Given the description of an element on the screen output the (x, y) to click on. 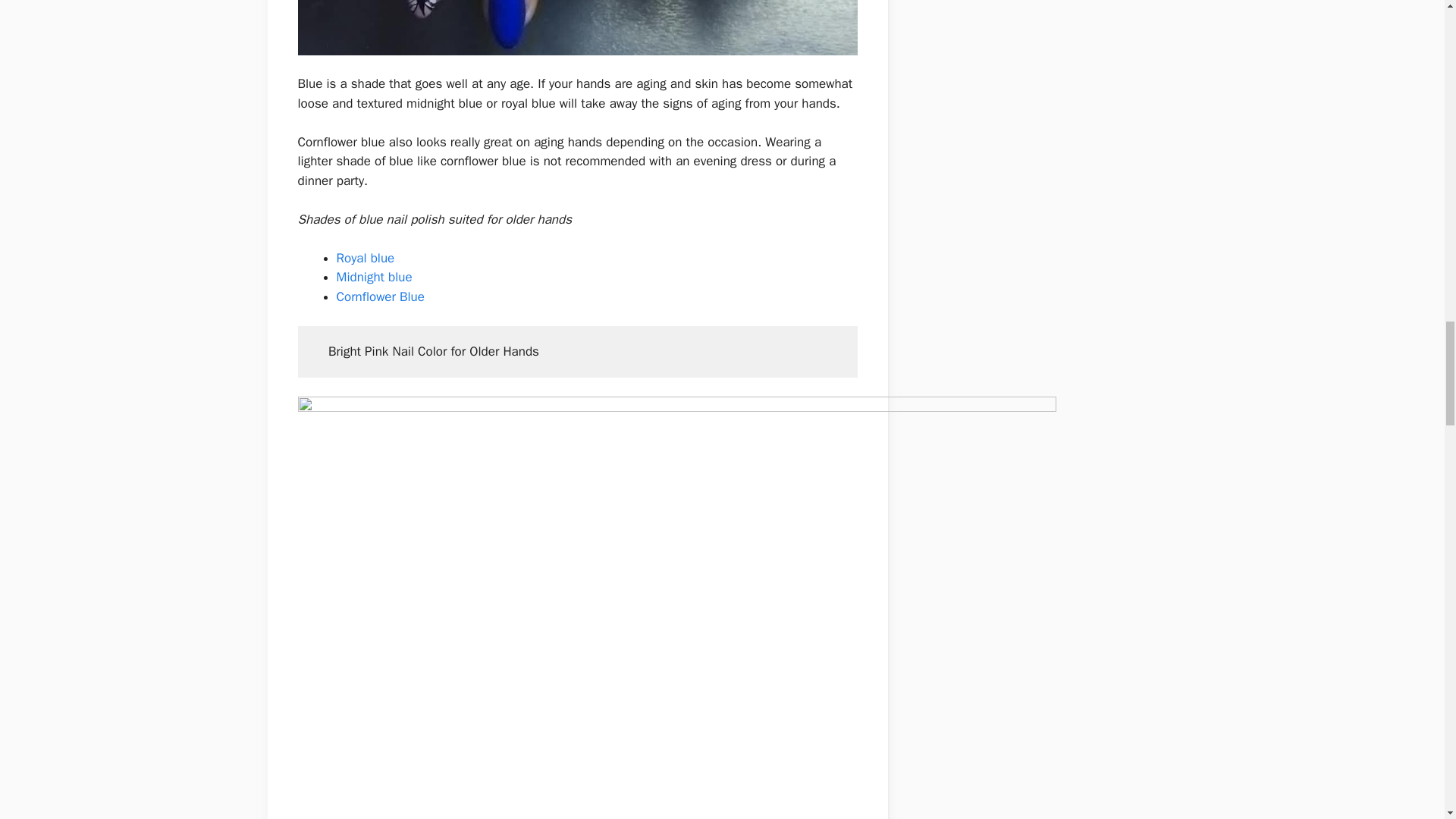
Midnight blue  (376, 277)
Royal blue (365, 258)
Cornf (351, 296)
ower Blue  (398, 296)
